Given the description of an element on the screen output the (x, y) to click on. 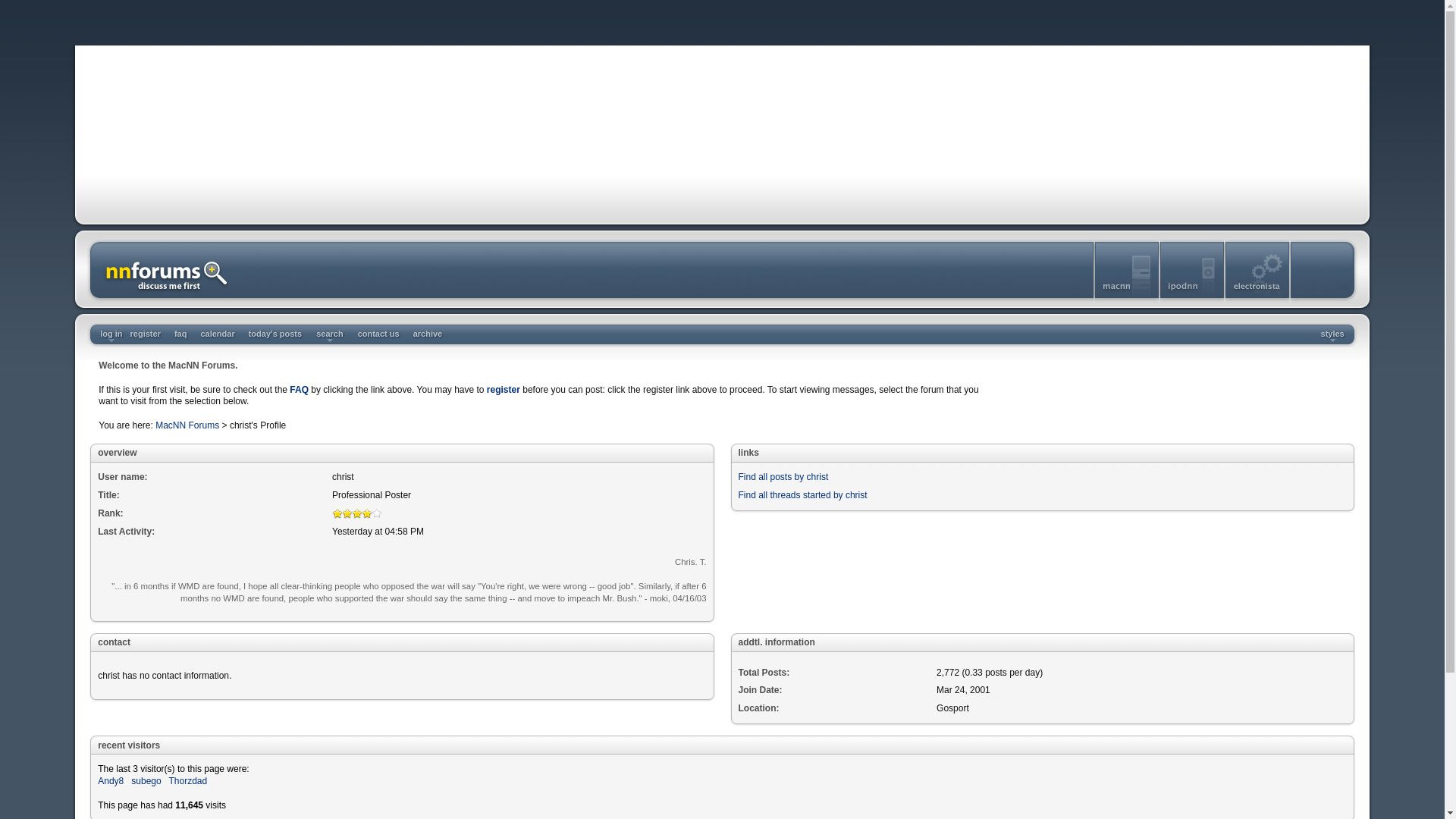
Andy8 (110, 780)
today's posts (274, 334)
visit electronista.com (1257, 299)
archive (427, 334)
calendar (217, 334)
Thorzdad (187, 780)
styles (1331, 333)
faq (180, 334)
visit macnn.com (1126, 299)
log in (111, 333)
Find all posts by christ (783, 476)
search (328, 334)
register (502, 388)
nnforums home page (165, 299)
MacNN Forums (187, 425)
